Given the description of an element on the screen output the (x, y) to click on. 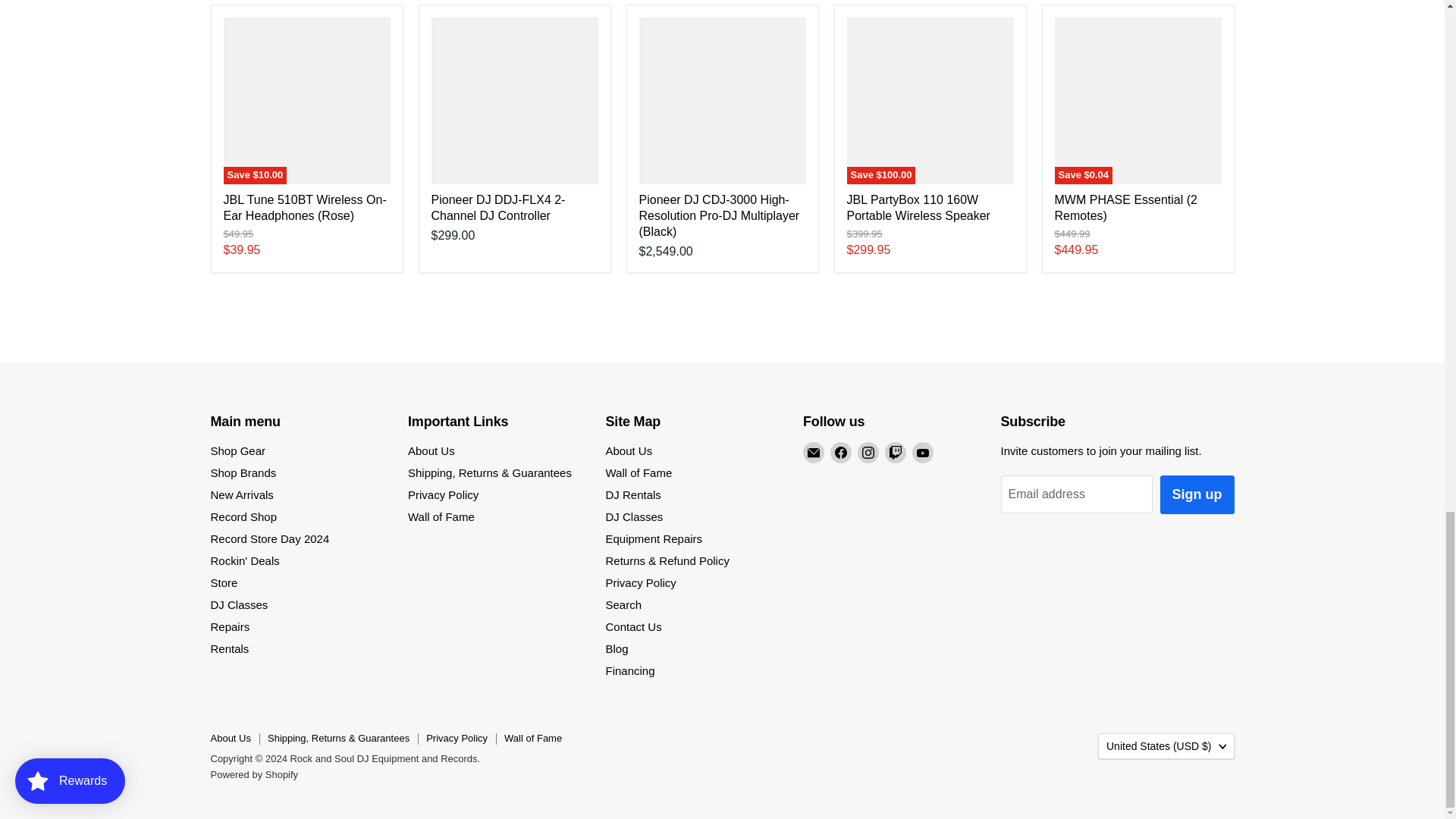
Instagram (868, 452)
YouTube (922, 452)
Email (813, 452)
Twitch (895, 452)
Facebook (840, 452)
